Given the description of an element on the screen output the (x, y) to click on. 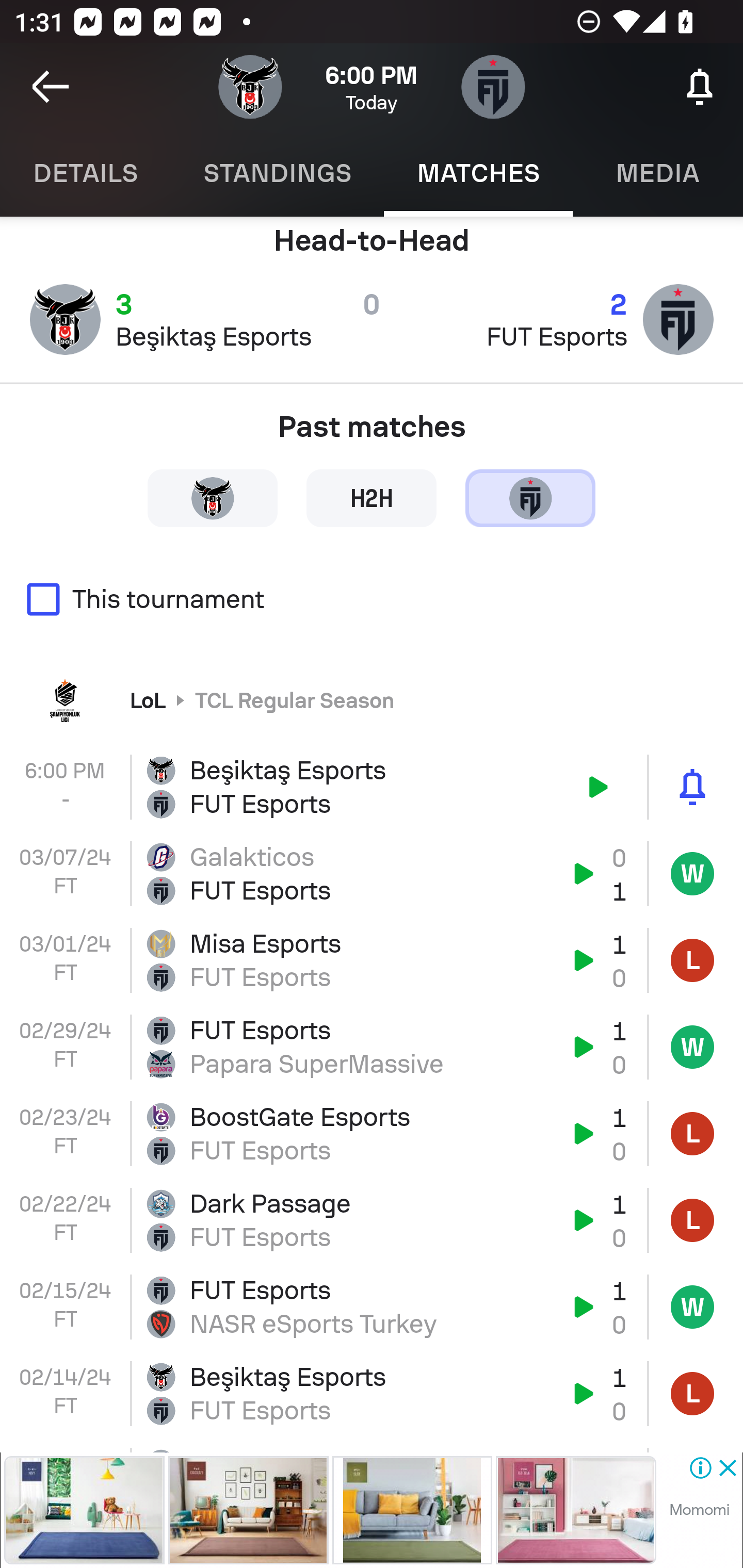
Navigate up (50, 86)
Details DETAILS (85, 173)
Standings STANDINGS (277, 173)
Media MEDIA (657, 173)
H2H (371, 497)
This tournament (371, 599)
LoL TCL Regular Season (371, 699)
6:00 PM - Beşiktaş Esports FUT Esports (371, 787)
03/07/24 FT Galakticos FUT Esports 0 1 W (371, 874)
03/01/24 FT Misa Esports FUT Esports 1 0 L (371, 960)
02/29/24 FT FUT Esports Papara SuperMassive 1 0 W (371, 1046)
02/23/24 FT BoostGate Esports FUT Esports 1 0 L (371, 1133)
02/22/24 FT Dark Passage FUT Esports 1 0 L (371, 1220)
02/15/24 FT FUT Esports NASR eSports Turkey 1 0 W (371, 1306)
02/14/24 FT Beşiktaş Esports FUT Esports 1 0 L (371, 1393)
Momomi (699, 1509)
